Given the description of an element on the screen output the (x, y) to click on. 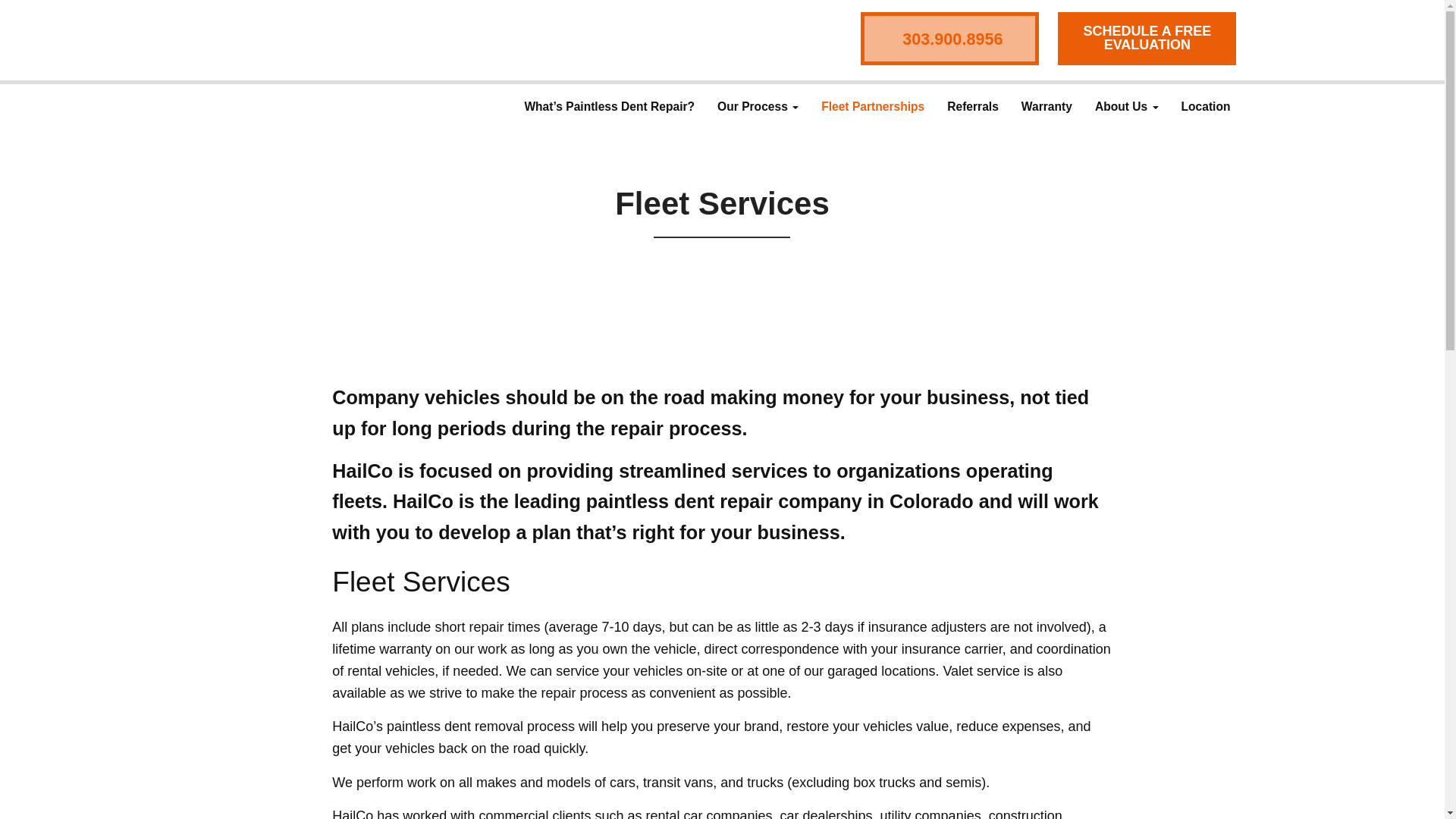
Our Process (757, 106)
About Us (1126, 106)
About Us (1126, 106)
Referrals (973, 106)
303.900.8956 (950, 38)
SCHEDULE A FREE EVALUATION (1146, 37)
Fleet Partnerships (872, 106)
Warranty (1046, 106)
Warranty (1046, 106)
Referrals (973, 106)
Fleet Partnerships (872, 106)
Our Process (757, 106)
Location (1205, 106)
Location (1205, 106)
Front Page (298, 40)
